Given the description of an element on the screen output the (x, y) to click on. 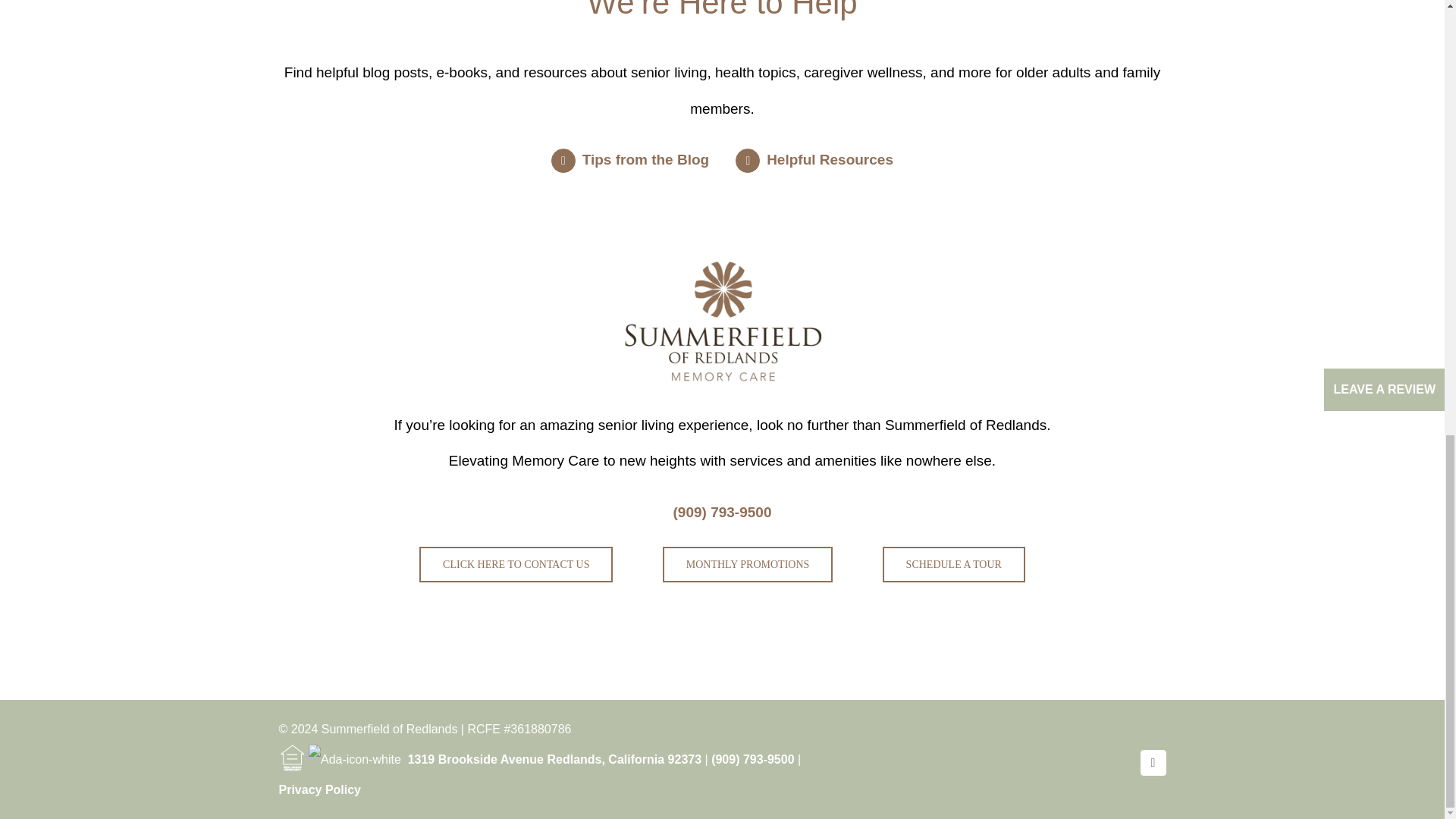
Facebook (1153, 762)
Click Here To Contact Us (515, 564)
Monthly Promotions (747, 564)
Schedule a Tour (953, 564)
summerfield-of-redlands (722, 322)
